Given the description of an element on the screen output the (x, y) to click on. 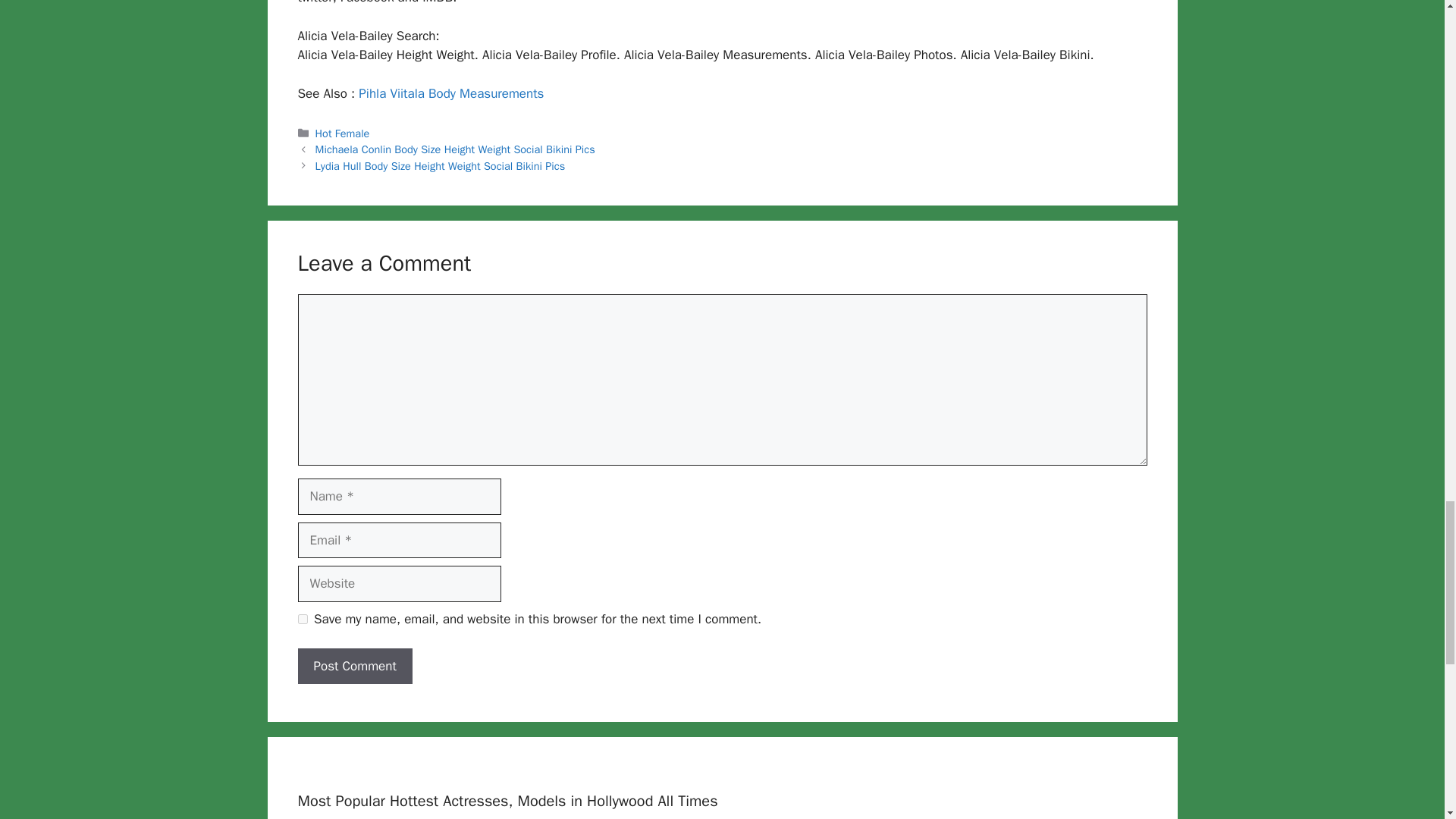
Lydia Hull Body Size Height Weight Social Bikini Pics (440, 165)
Hot Female (342, 133)
Post Comment (354, 666)
Michaela Conlin Body Size Height Weight Social Bikini Pics (455, 149)
yes (302, 619)
Post Comment (354, 666)
Pihla Viitala Body Measurements (449, 93)
